Given the description of an element on the screen output the (x, y) to click on. 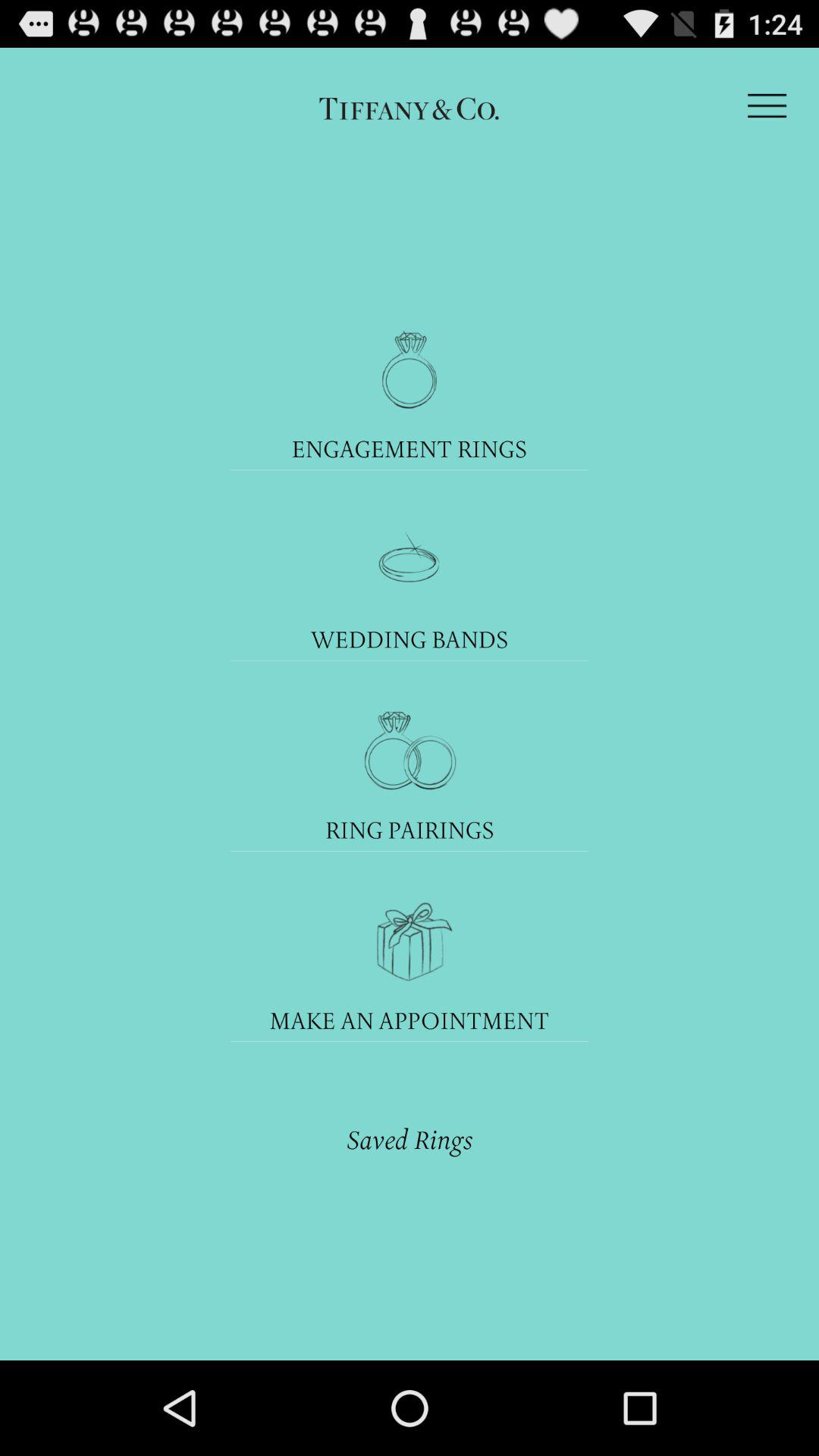
launch the saved rings item (409, 1139)
